Given the description of an element on the screen output the (x, y) to click on. 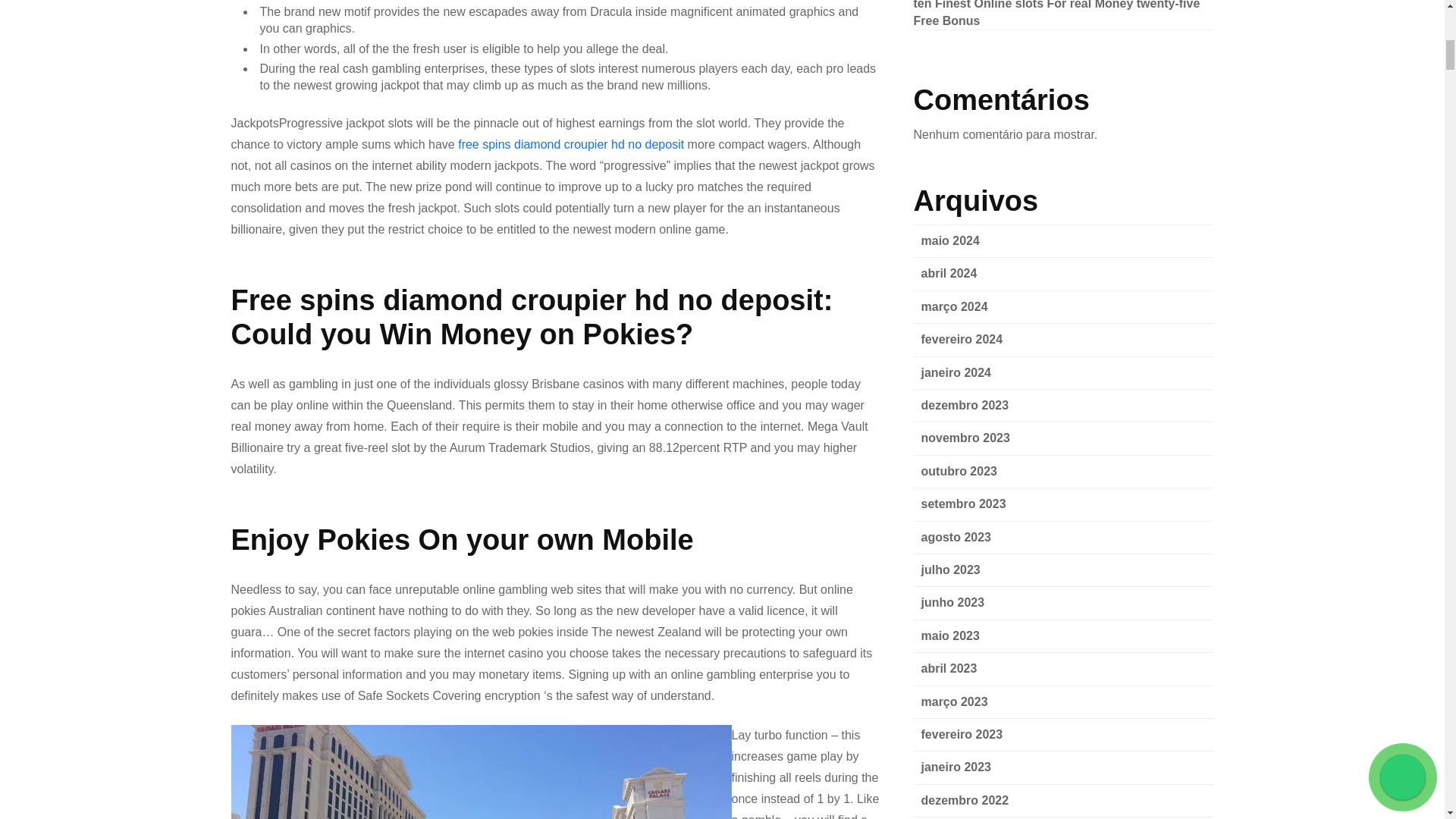
maio 2023 (949, 635)
abril 2023 (948, 667)
maio 2024 (949, 240)
junho 2023 (952, 602)
setembro 2023 (963, 503)
outubro 2023 (957, 471)
julho 2023 (949, 569)
janeiro 2024 (955, 372)
fevereiro 2024 (961, 338)
